Given the description of an element on the screen output the (x, y) to click on. 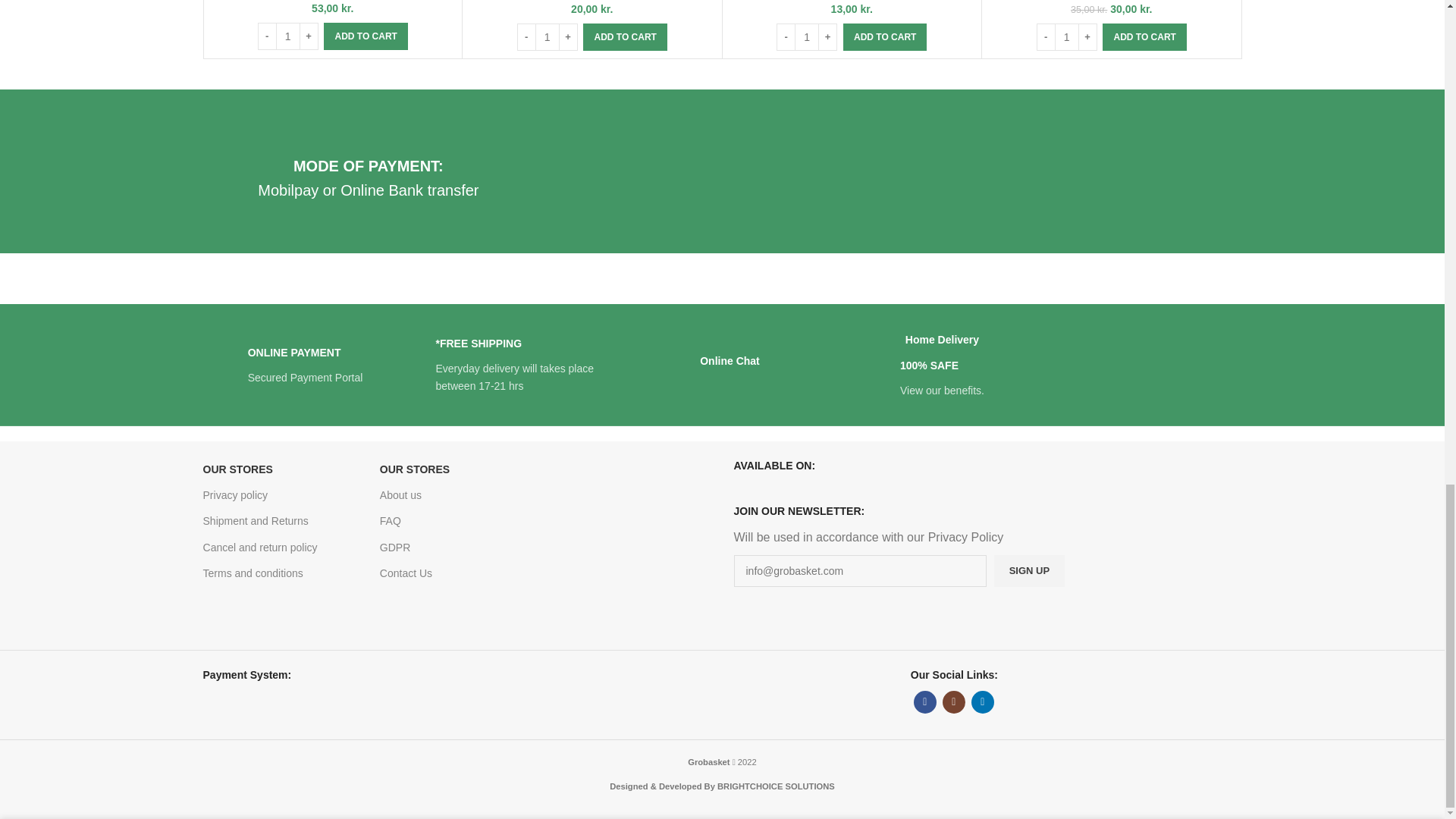
Sign up (1029, 571)
